Given the description of an element on the screen output the (x, y) to click on. 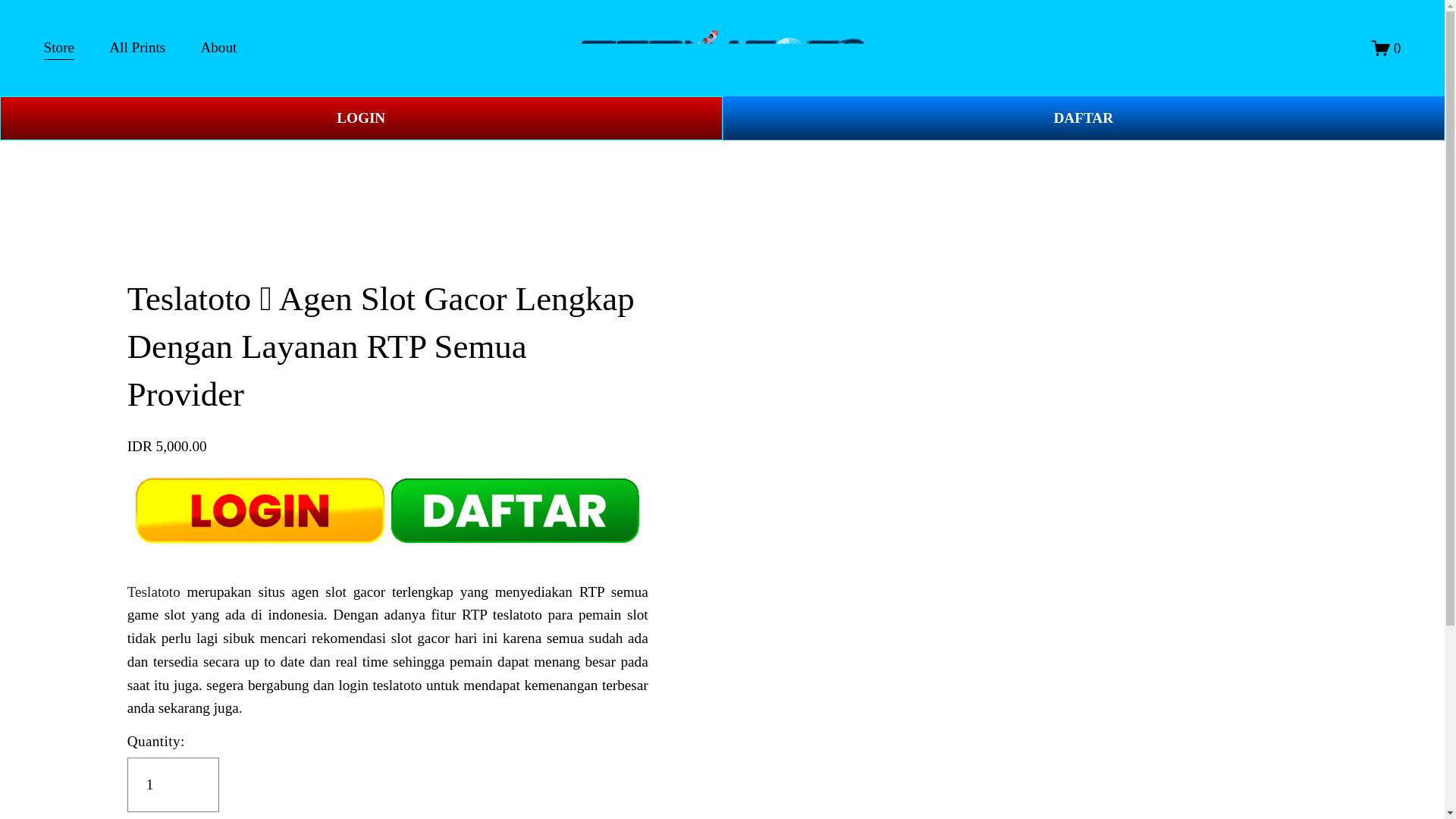
1 (173, 784)
0 (1385, 47)
LOGIN (361, 118)
Store (59, 48)
All Prints (137, 48)
Teslatoto (154, 591)
About (217, 48)
